Given the description of an element on the screen output the (x, y) to click on. 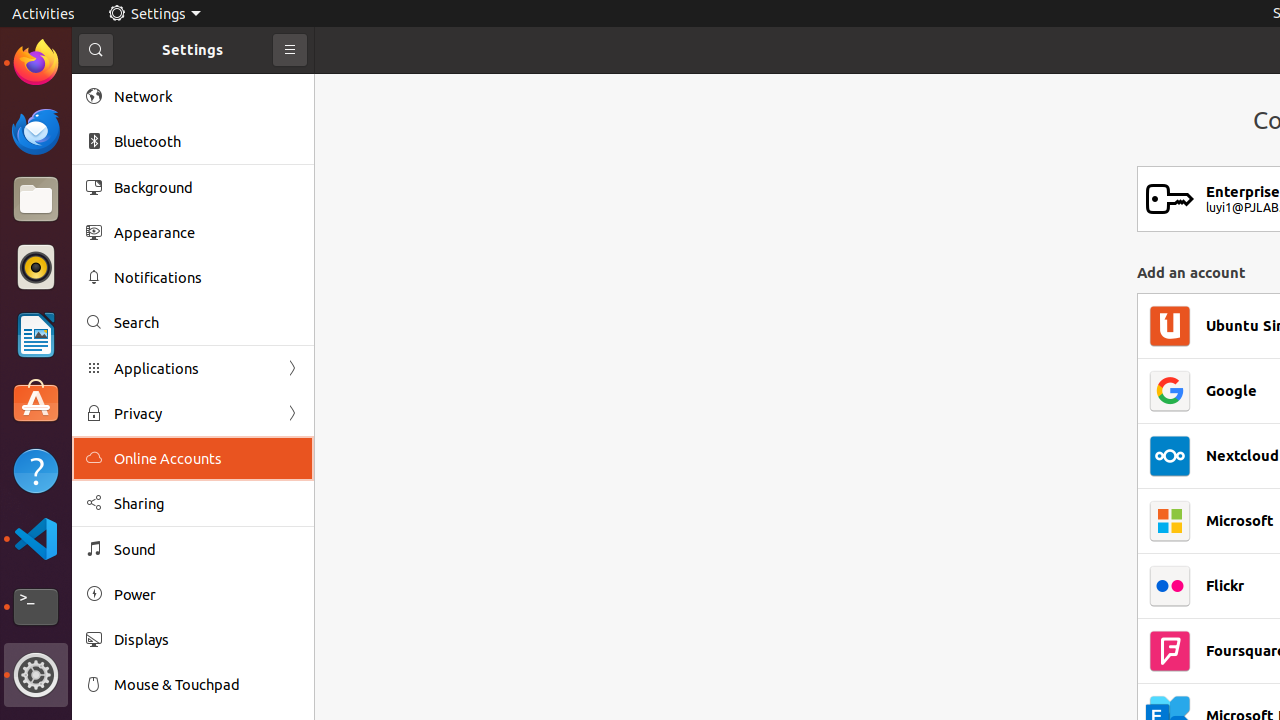
Settings Element type: push-button (36, 675)
Mouse & Touchpad Element type: label (207, 684)
